Given the description of an element on the screen output the (x, y) to click on. 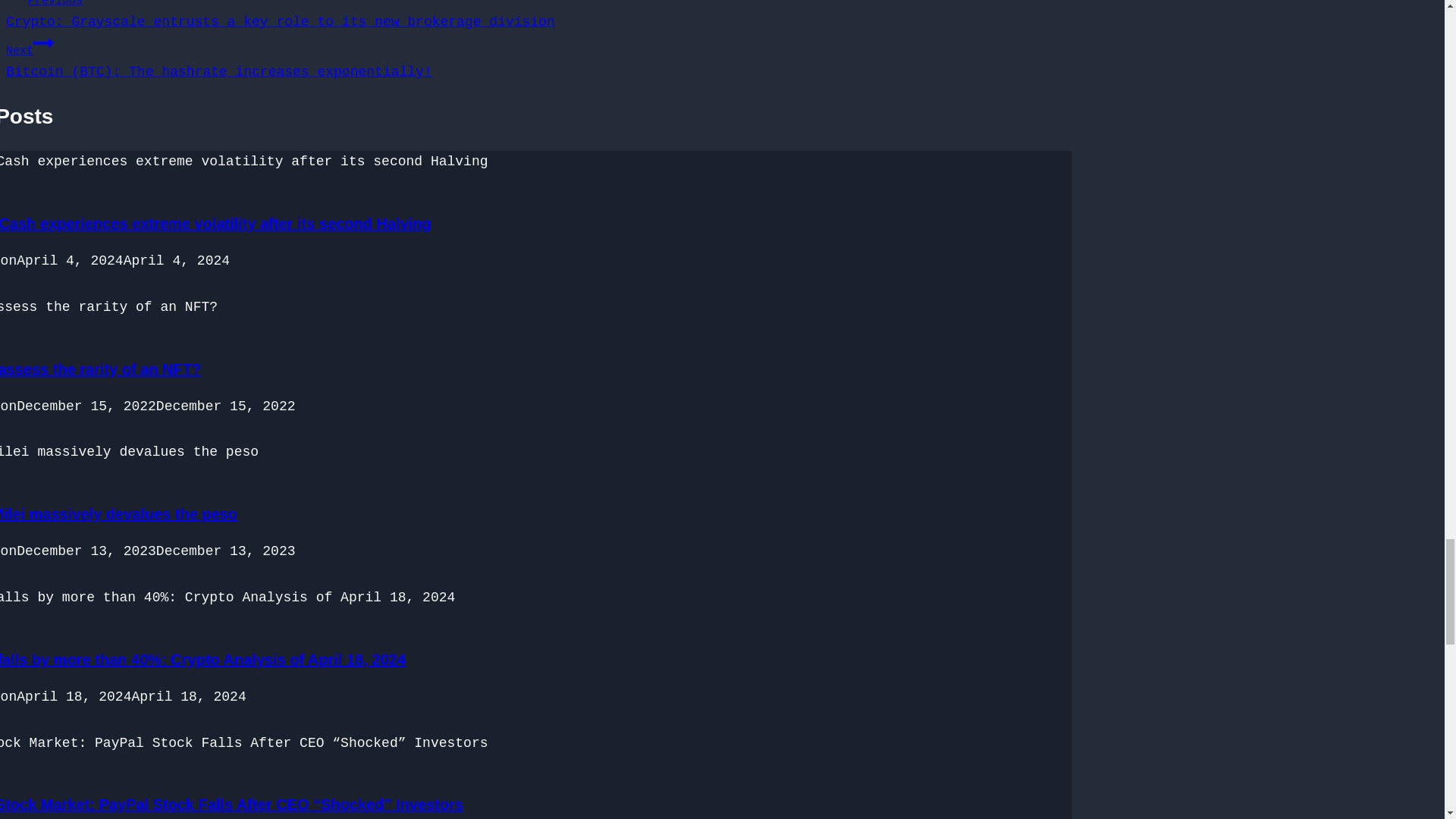
Javier Milei massively devalues the peso (118, 514)
Continue (43, 43)
How to assess the rarity of an NFT? (100, 369)
Previous (16, 2)
